Given the description of an element on the screen output the (x, y) to click on. 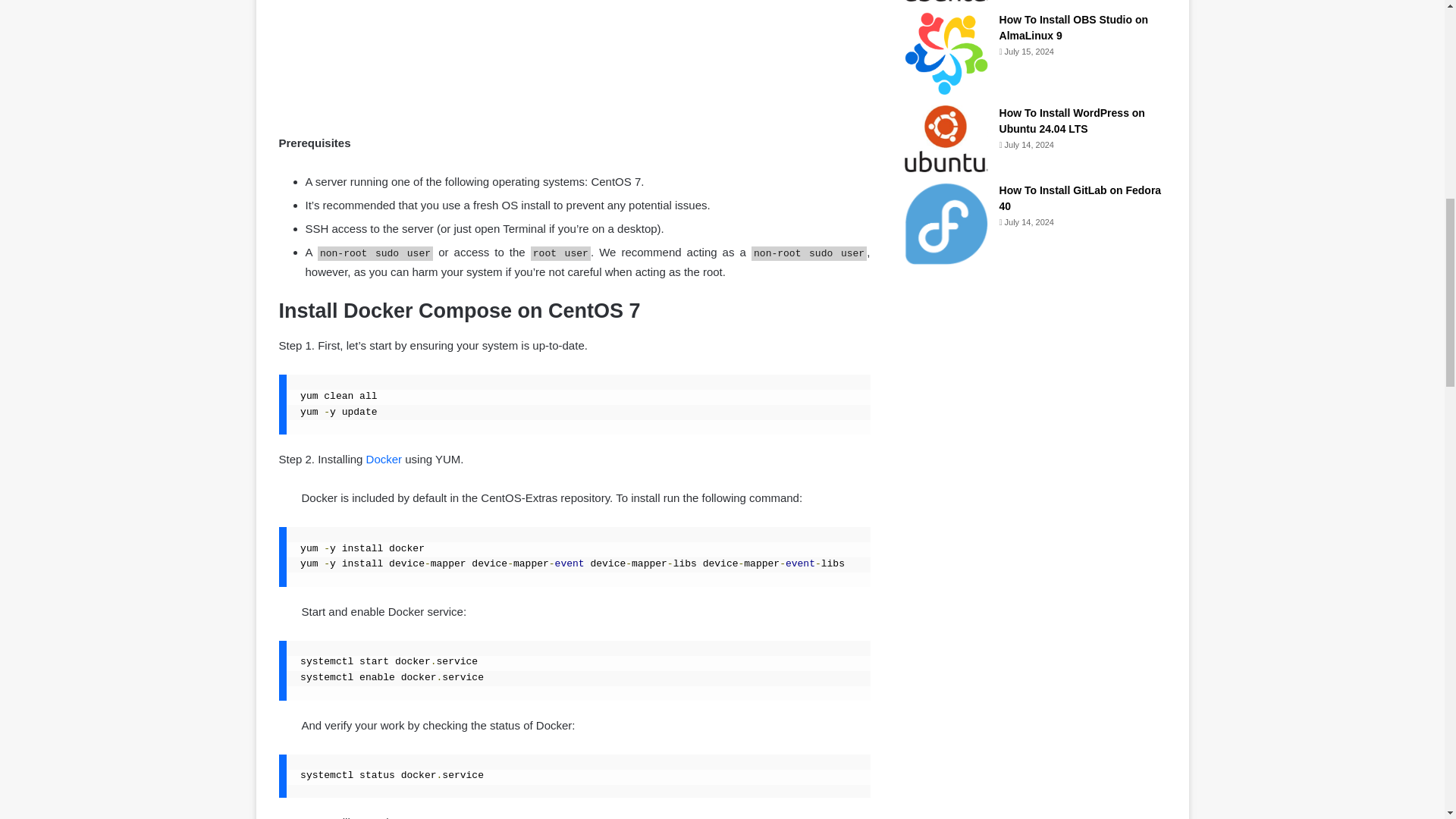
Docker (384, 459)
Advertisement (574, 63)
